Given the description of an element on the screen output the (x, y) to click on. 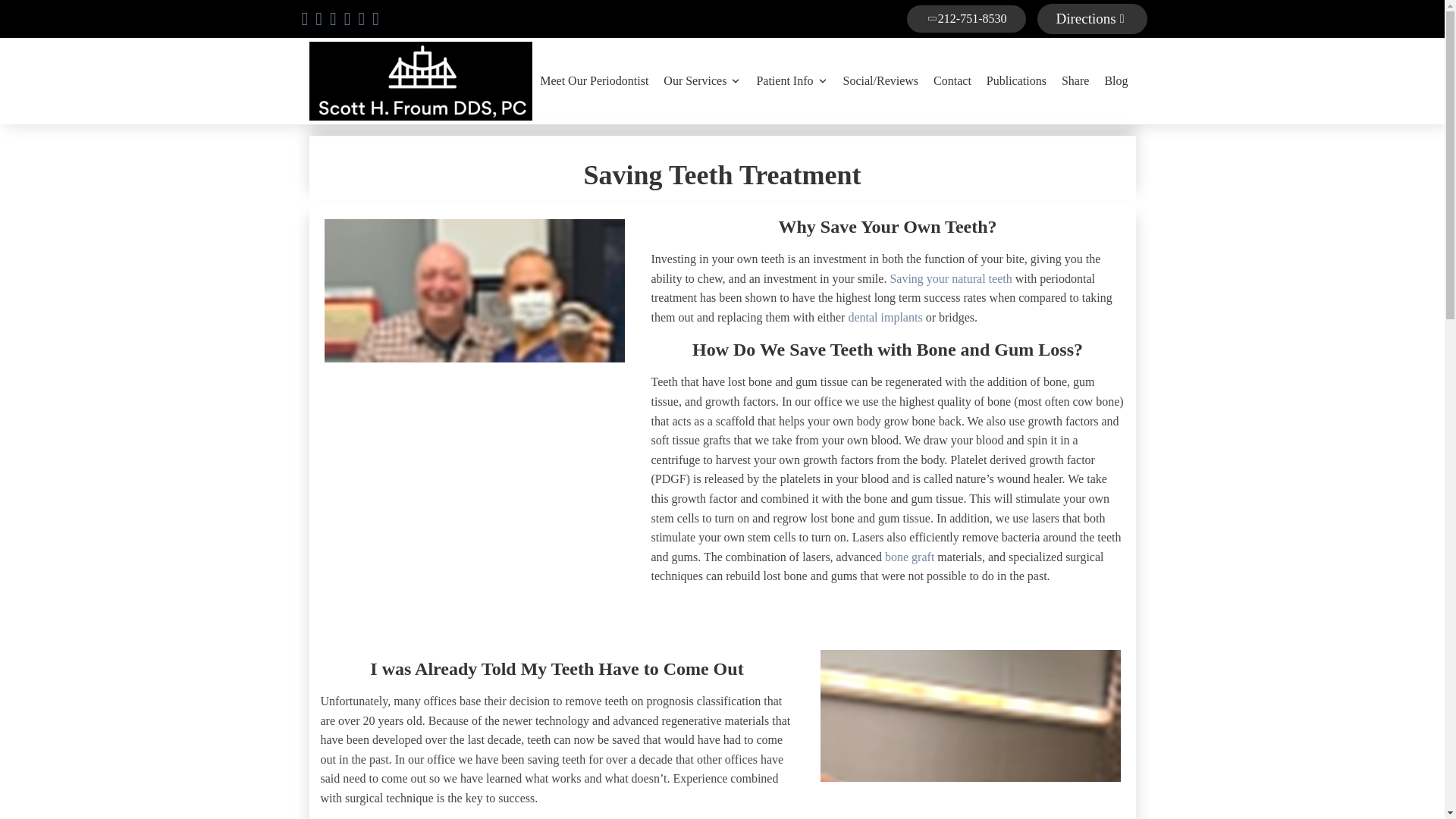
Contact (952, 80)
Patient Info (791, 80)
Phone Number (966, 18)
Directions (1091, 19)
Our Services (702, 80)
Directons (1091, 19)
Meet Our Periodontist (594, 80)
212-751-8530 (966, 18)
